Given the description of an element on the screen output the (x, y) to click on. 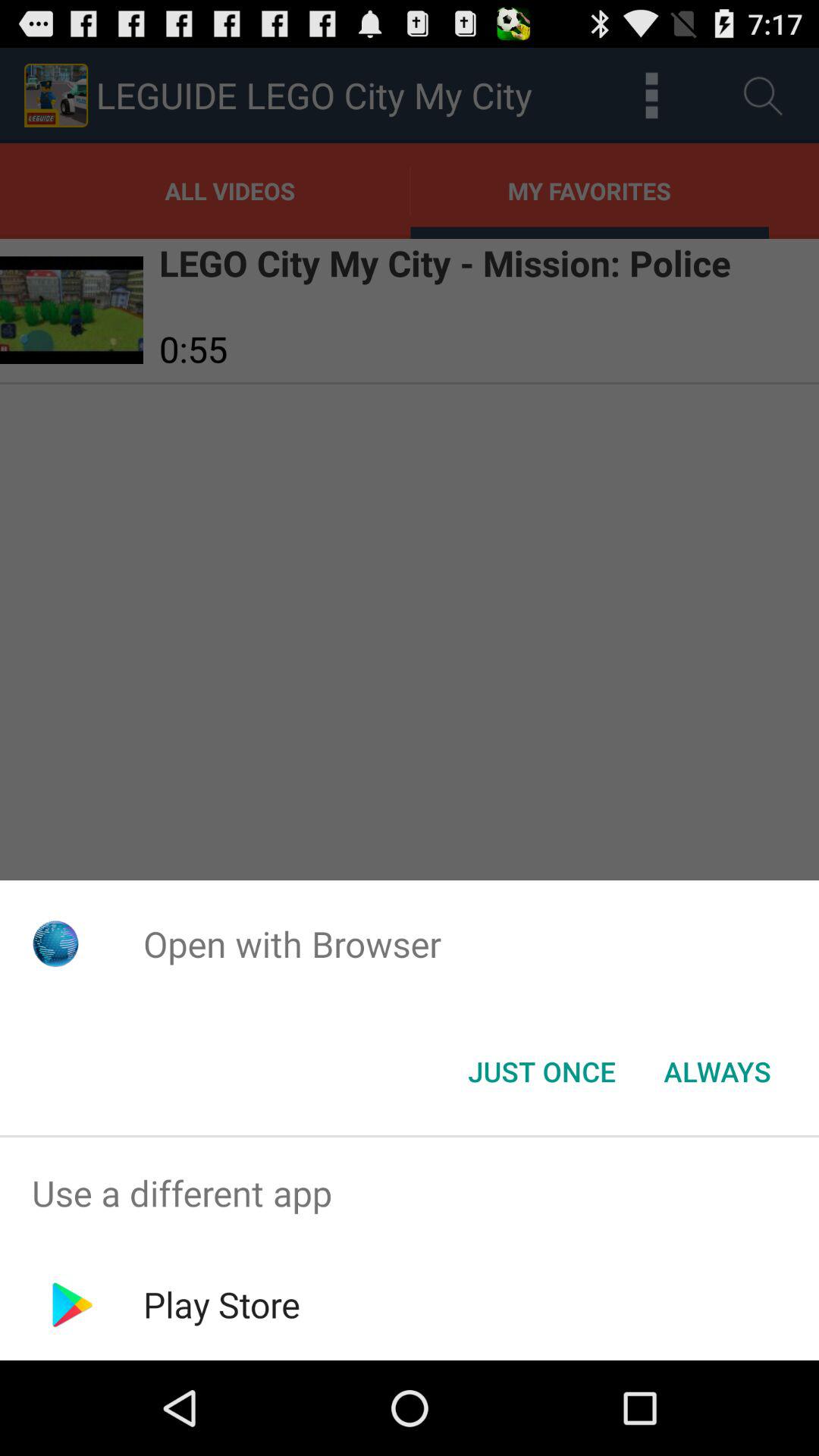
swipe until the always (717, 1071)
